Given the description of an element on the screen output the (x, y) to click on. 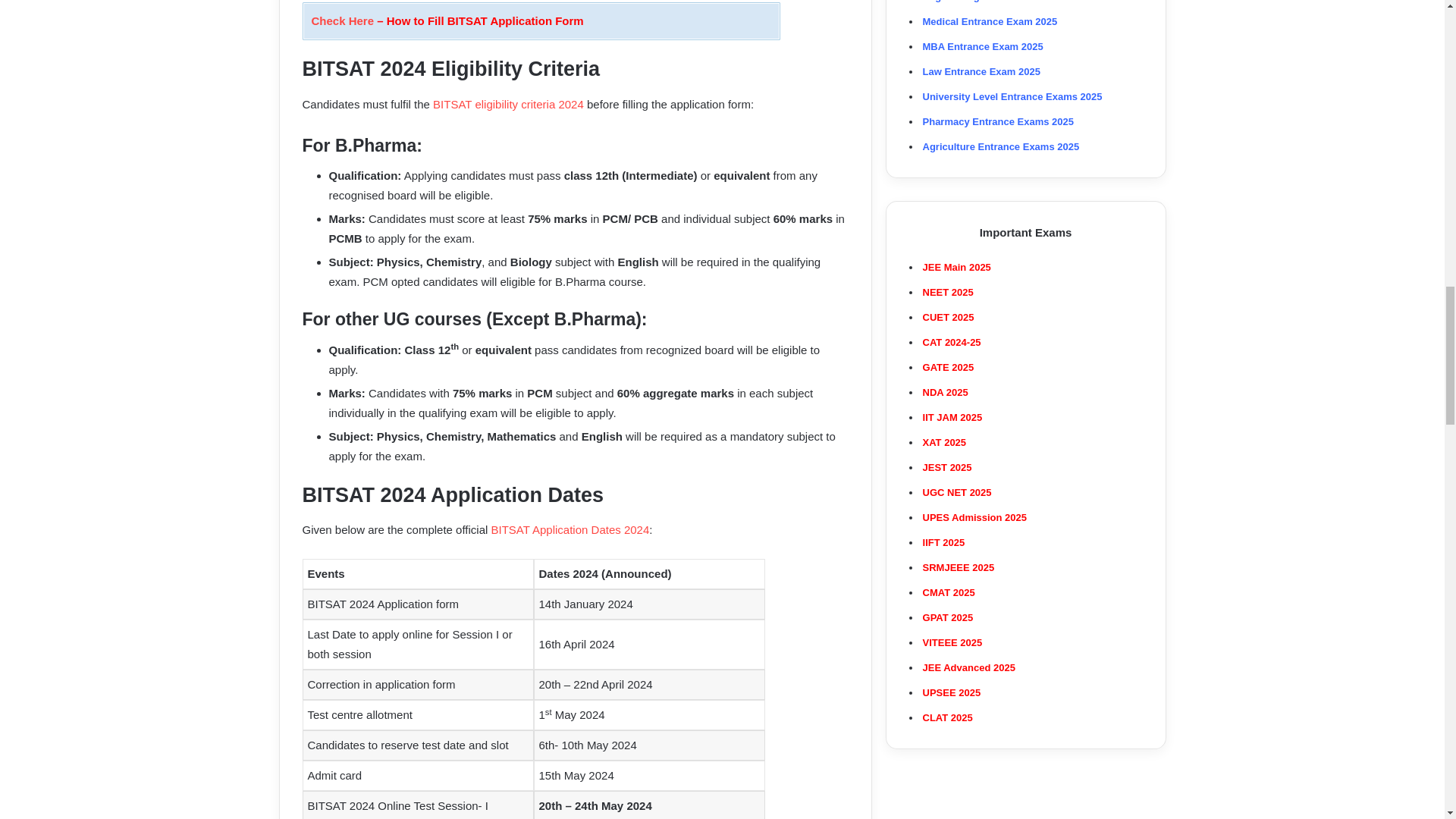
BITSAT Application Dates 2024 (570, 529)
Check Here (342, 20)
BITSAT eligibility criteria 2024 (507, 103)
